Given the description of an element on the screen output the (x, y) to click on. 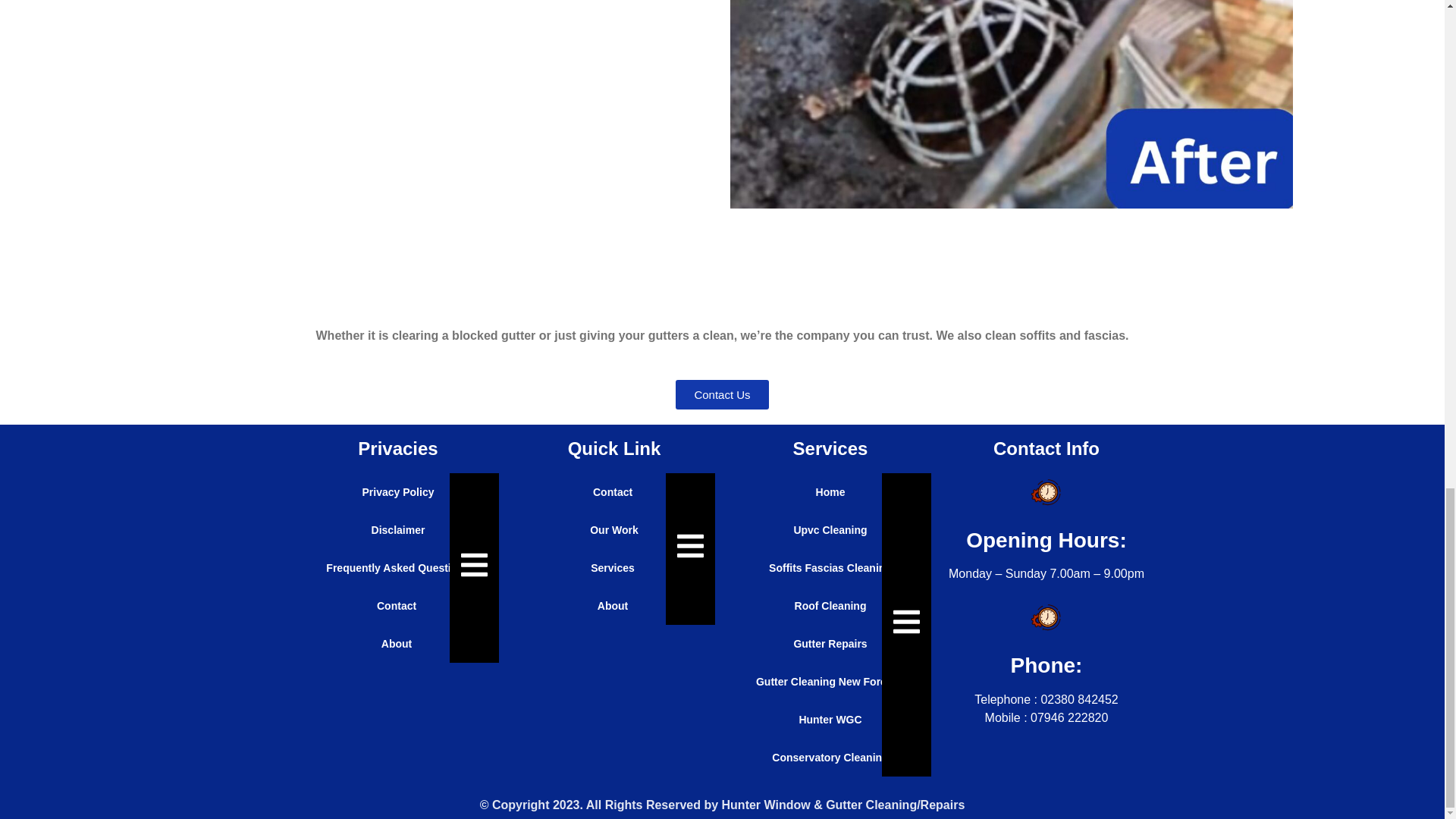
Home (829, 492)
Our Work (613, 529)
Disclaimer (397, 529)
Frequently Asked Questions (397, 567)
Contact  (397, 605)
About  (613, 605)
Conservatory Cleaning (829, 757)
Upvc Cleaning (829, 529)
Roof Cleaning (829, 605)
Contact Us (721, 394)
